Given the description of an element on the screen output the (x, y) to click on. 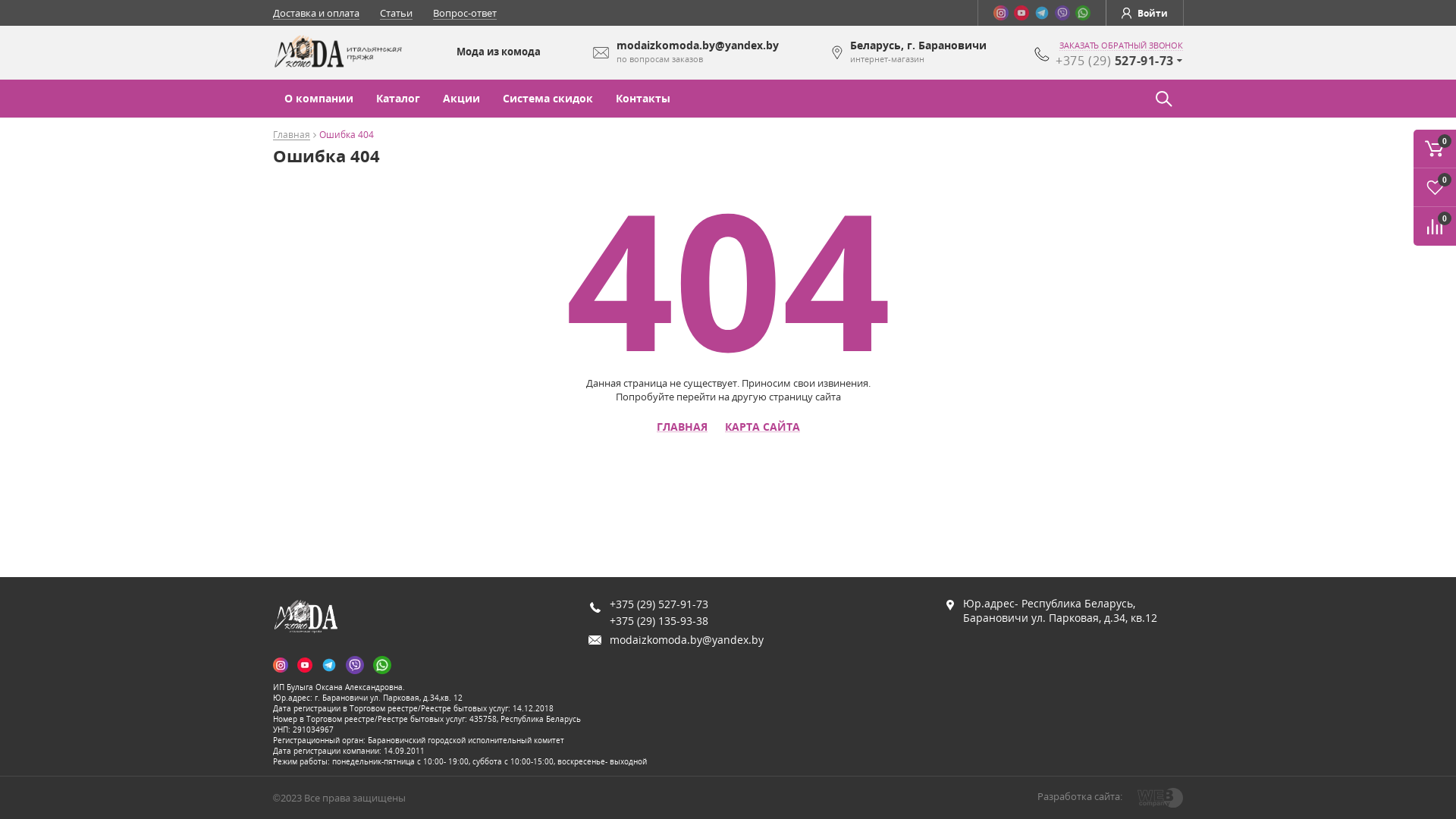
modaizkomoda.by@yandex.by Element type: text (686, 639)
+375 (29) 135-93-38 Element type: text (658, 620)
+375 (29) 527-91-73 Element type: text (658, 603)
